Given the description of an element on the screen output the (x, y) to click on. 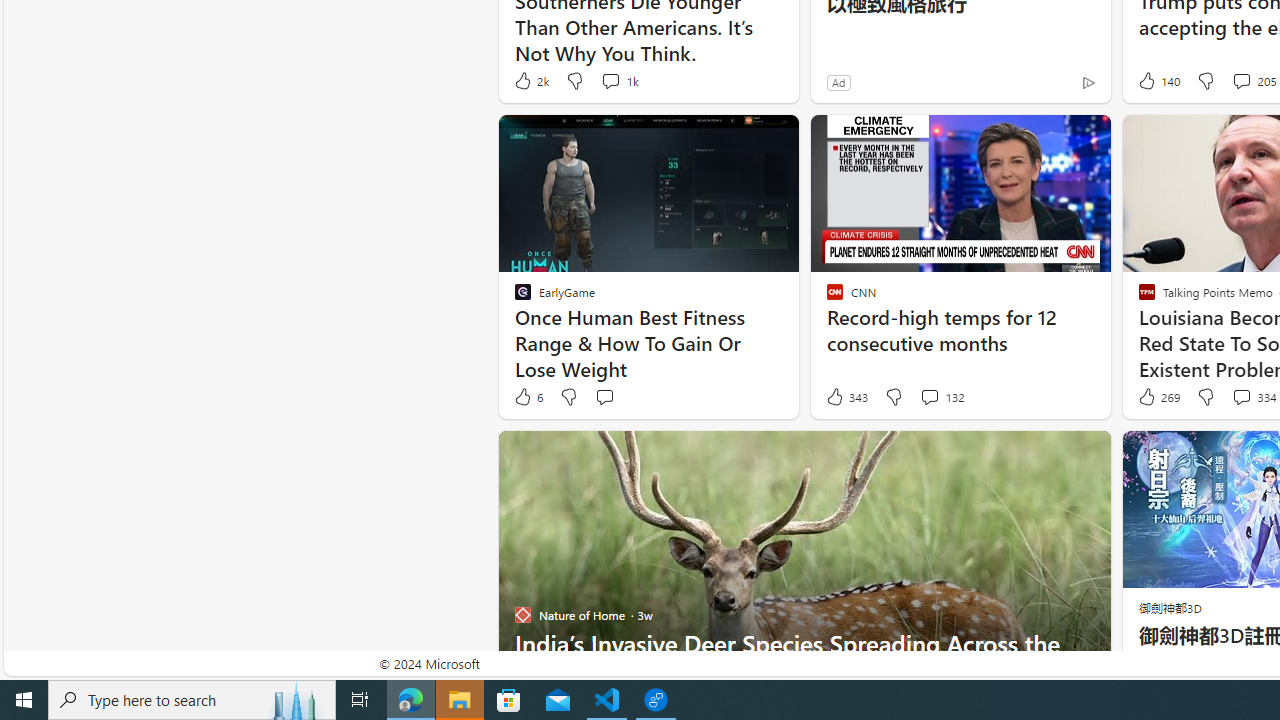
Hide this story (1050, 454)
View comments 1k Comment (618, 80)
View comments 205 Comment (1241, 80)
View comments 1k Comment (610, 80)
140 Like (1157, 80)
343 Like (845, 397)
View comments 132 Comment (941, 397)
View comments 132 Comment (929, 396)
6 Like (527, 397)
View comments 334 Comment (1241, 396)
